Given the description of an element on the screen output the (x, y) to click on. 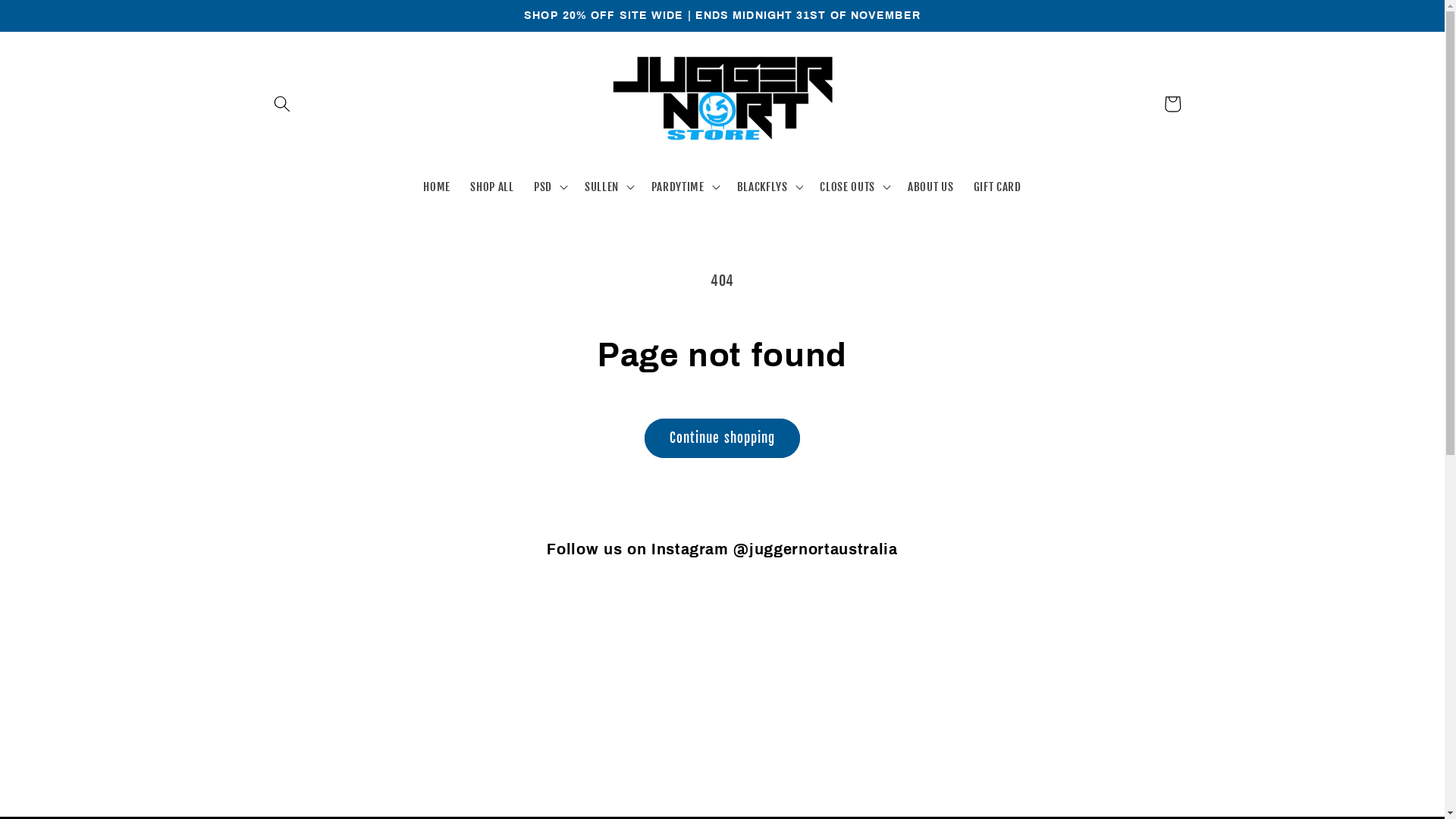
Cart Element type: text (1172, 103)
HOME Element type: text (436, 186)
Continue shopping Element type: text (722, 438)
SHOP ALL Element type: text (492, 186)
GIFT CARD Element type: text (996, 186)
ABOUT US Element type: text (930, 186)
